Given the description of an element on the screen output the (x, y) to click on. 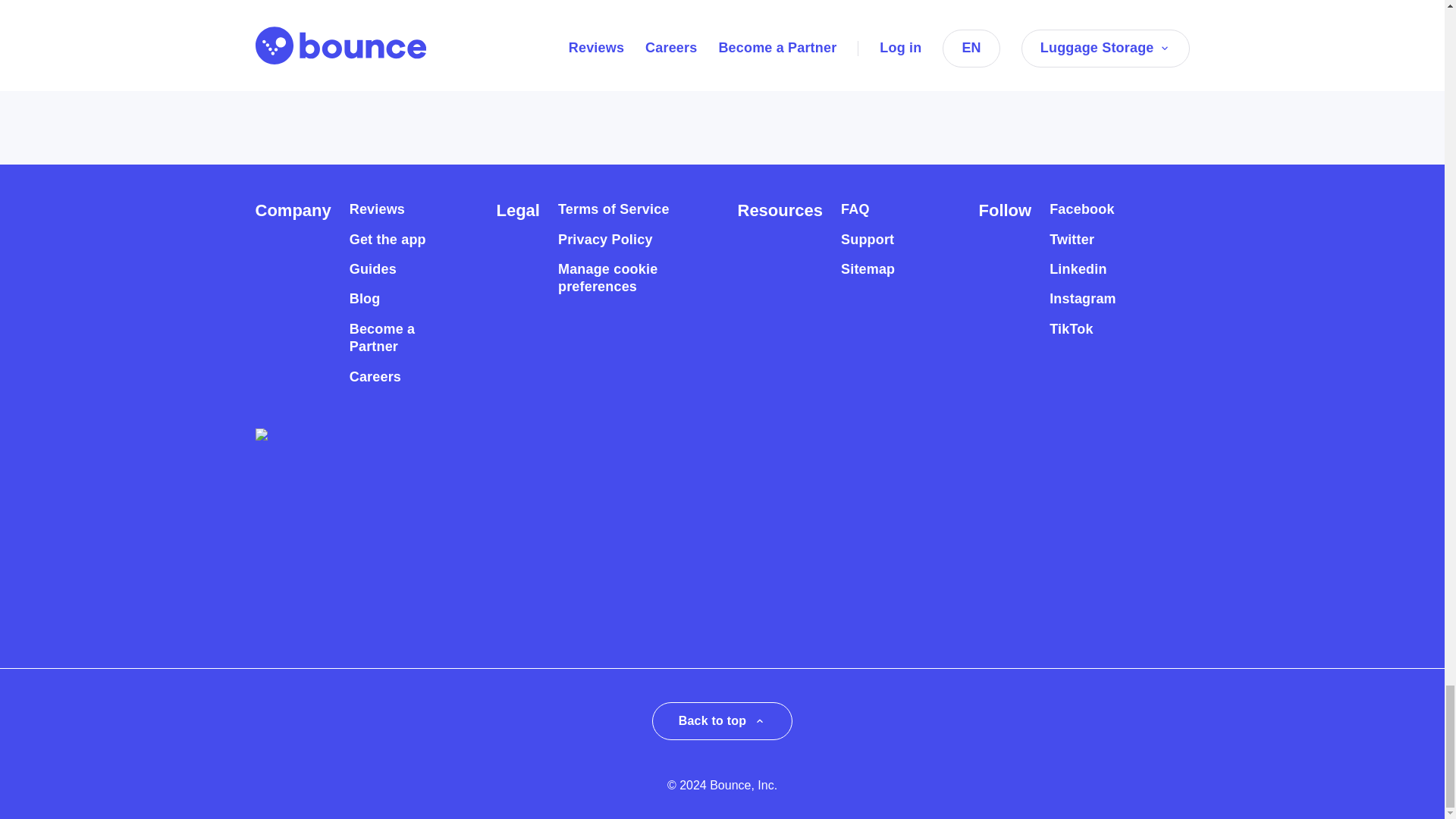
Download (321, 30)
Blog (364, 298)
Reviews (376, 209)
Guides (372, 269)
Get the app (387, 239)
Careers (375, 376)
Become a Partner (395, 338)
